Given the description of an element on the screen output the (x, y) to click on. 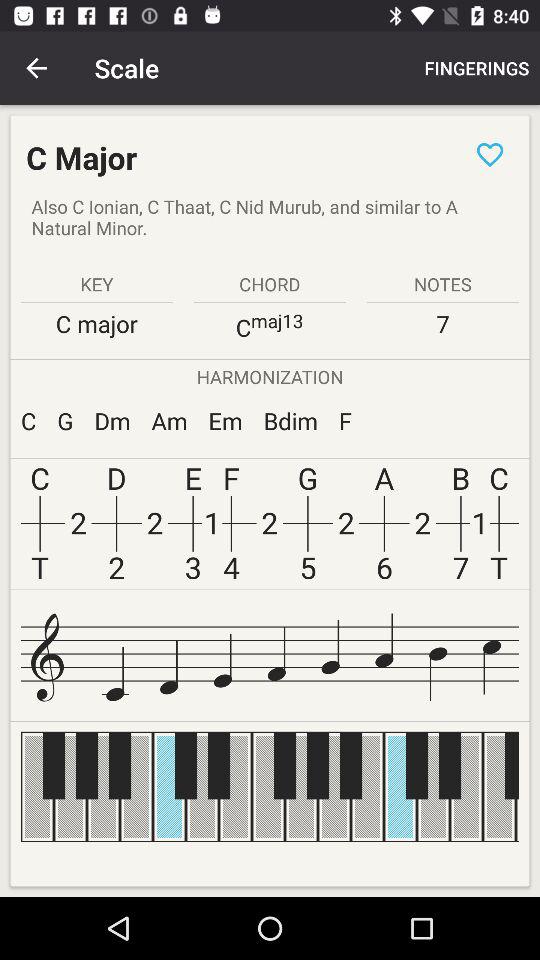
click item above the c major icon (36, 68)
